Given the description of an element on the screen output the (x, y) to click on. 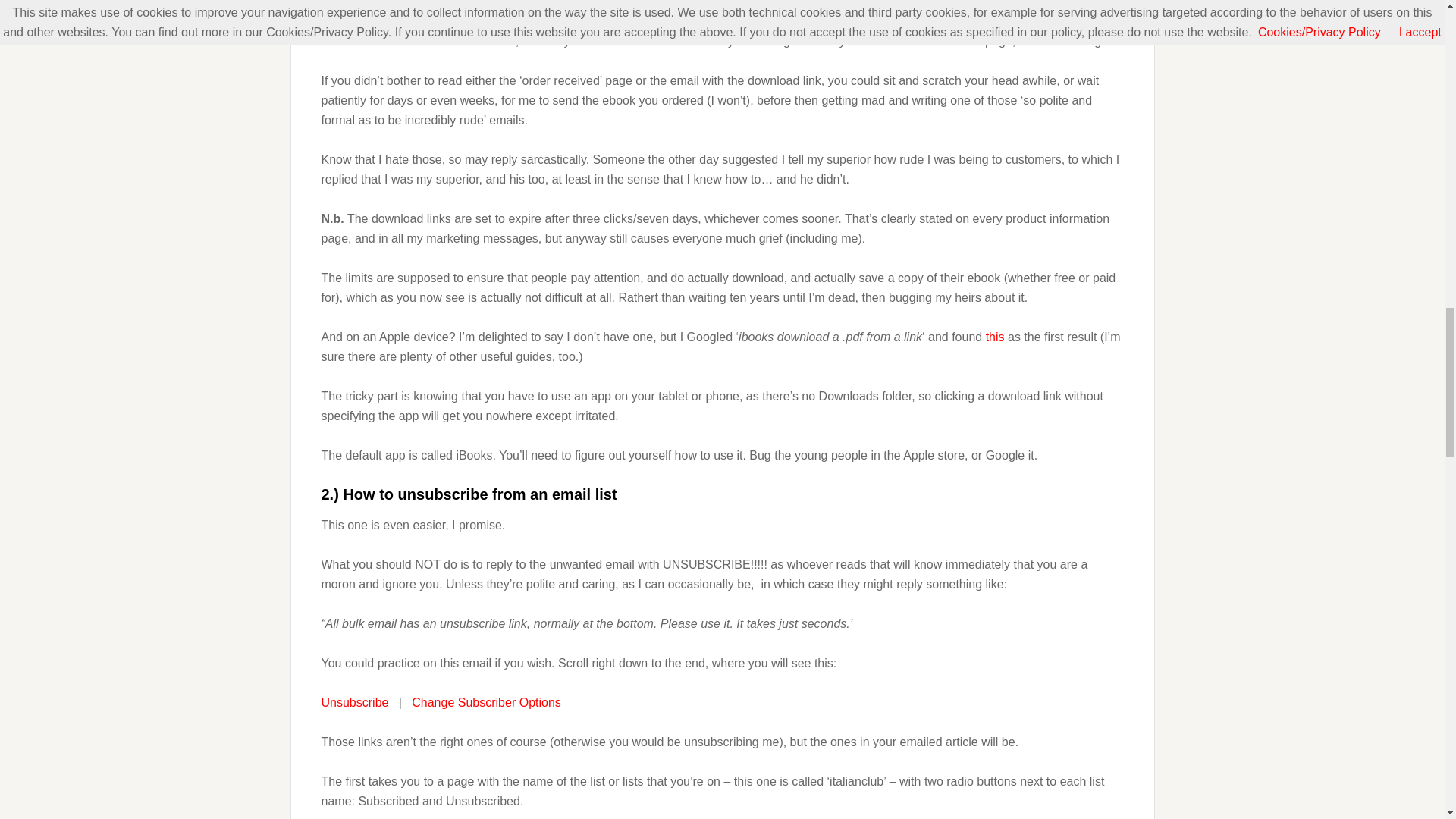
Unsubscribe (354, 702)
this (994, 336)
Change Subscriber Options (486, 702)
